Given the description of an element on the screen output the (x, y) to click on. 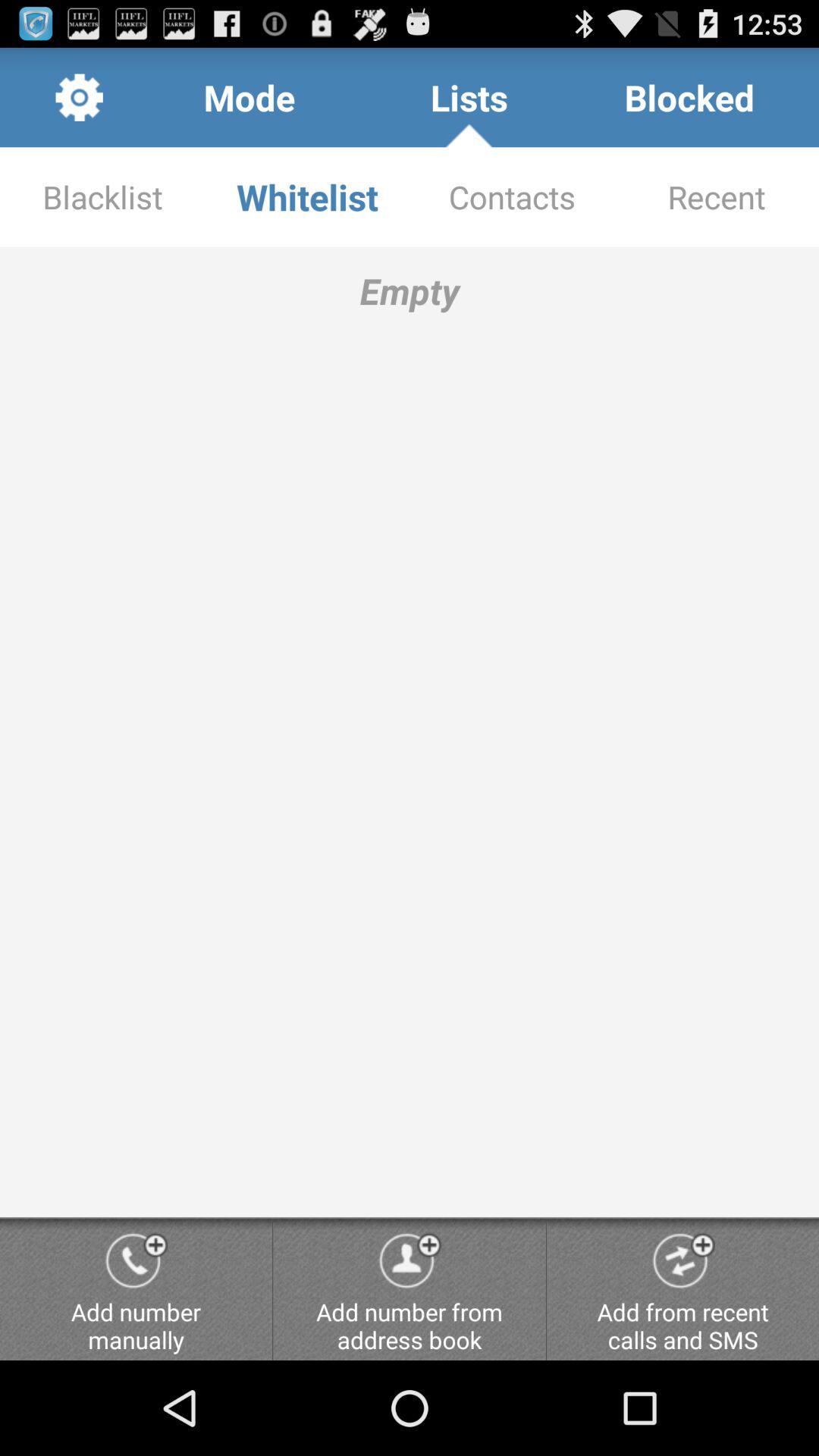
turn off app next to whitelist icon (102, 196)
